Given the description of an element on the screen output the (x, y) to click on. 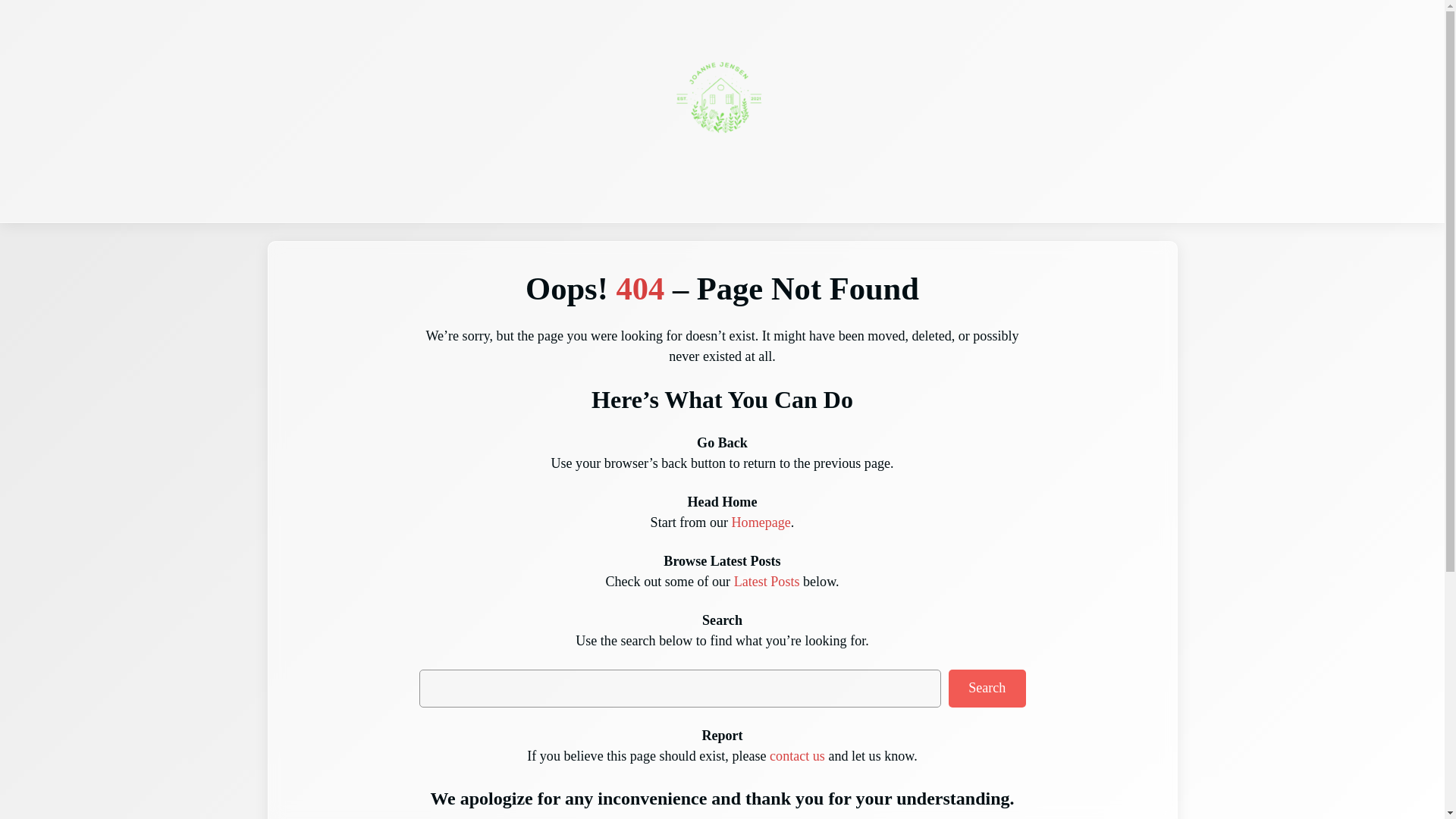
Latest Posts (766, 581)
Search (987, 687)
Homepage (761, 522)
contact us (797, 755)
